Given the description of an element on the screen output the (x, y) to click on. 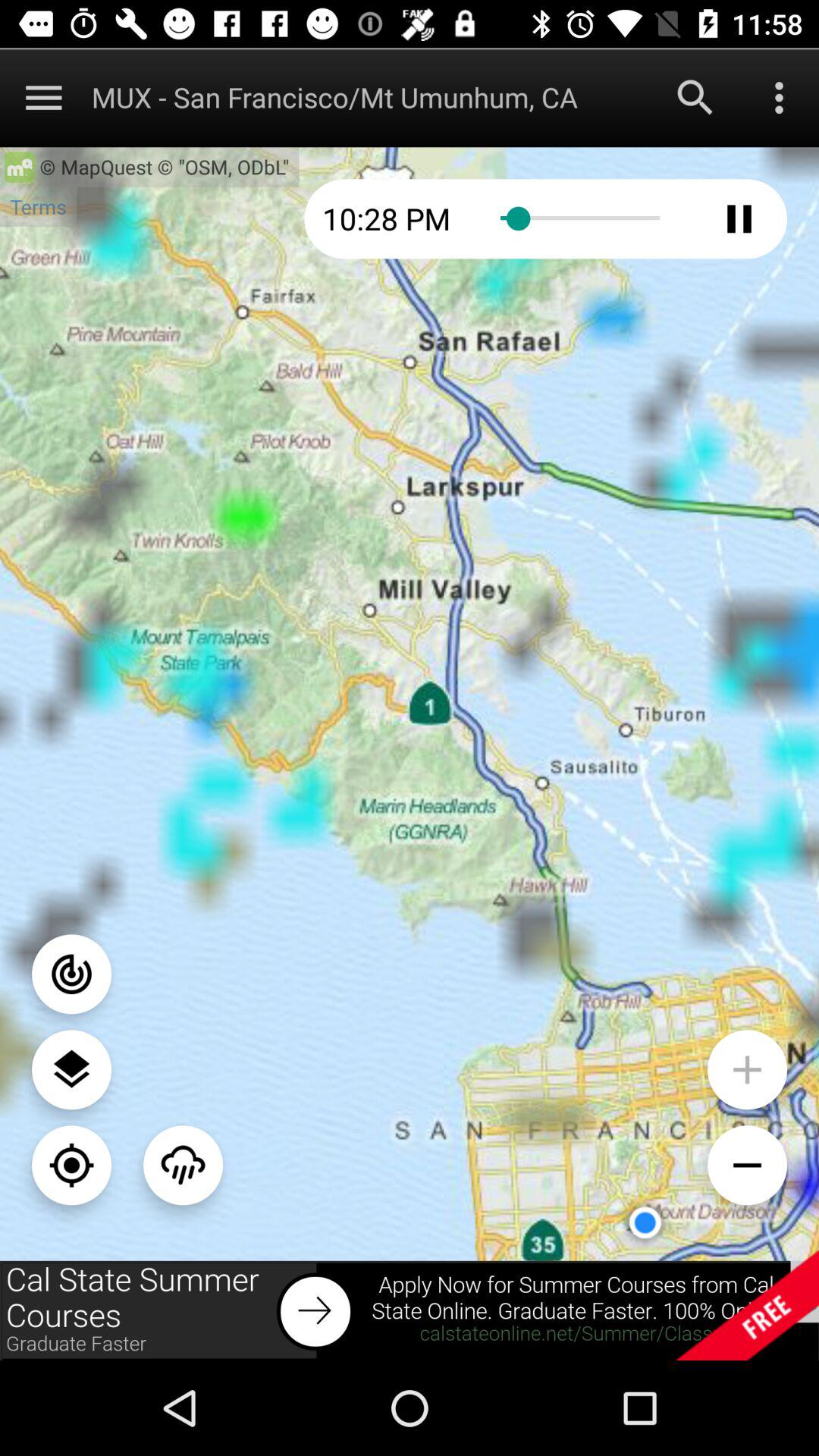
expand drop-down menu (43, 97)
